Given the description of an element on the screen output the (x, y) to click on. 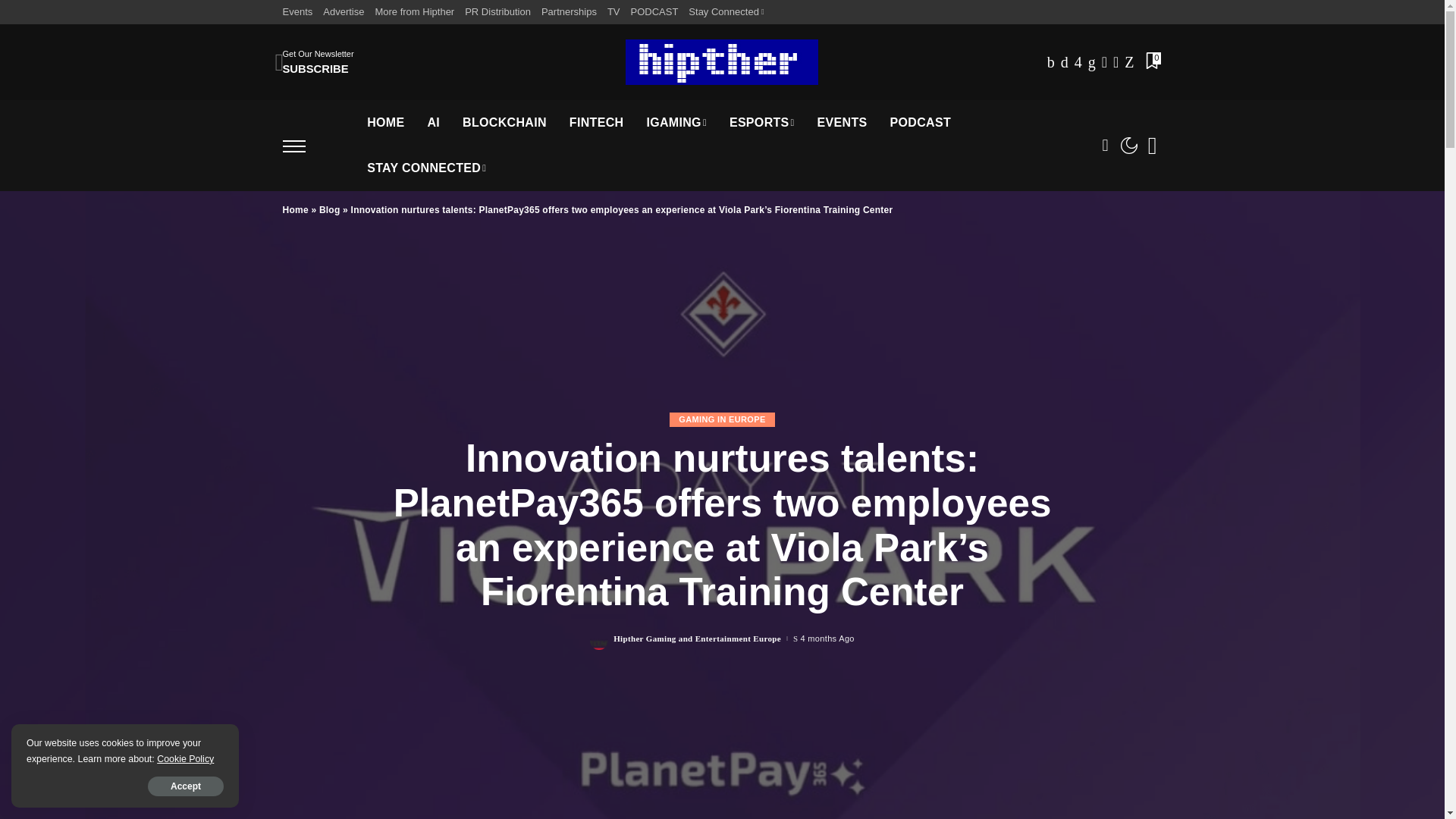
Advertise (343, 11)
Events (299, 11)
TV (614, 11)
Stay Connected (725, 11)
Partnerships (568, 11)
More from Hipther (414, 11)
PODCAST (655, 11)
PR Distribution (497, 11)
HIPTHER Alerts (722, 62)
